Given the description of an element on the screen output the (x, y) to click on. 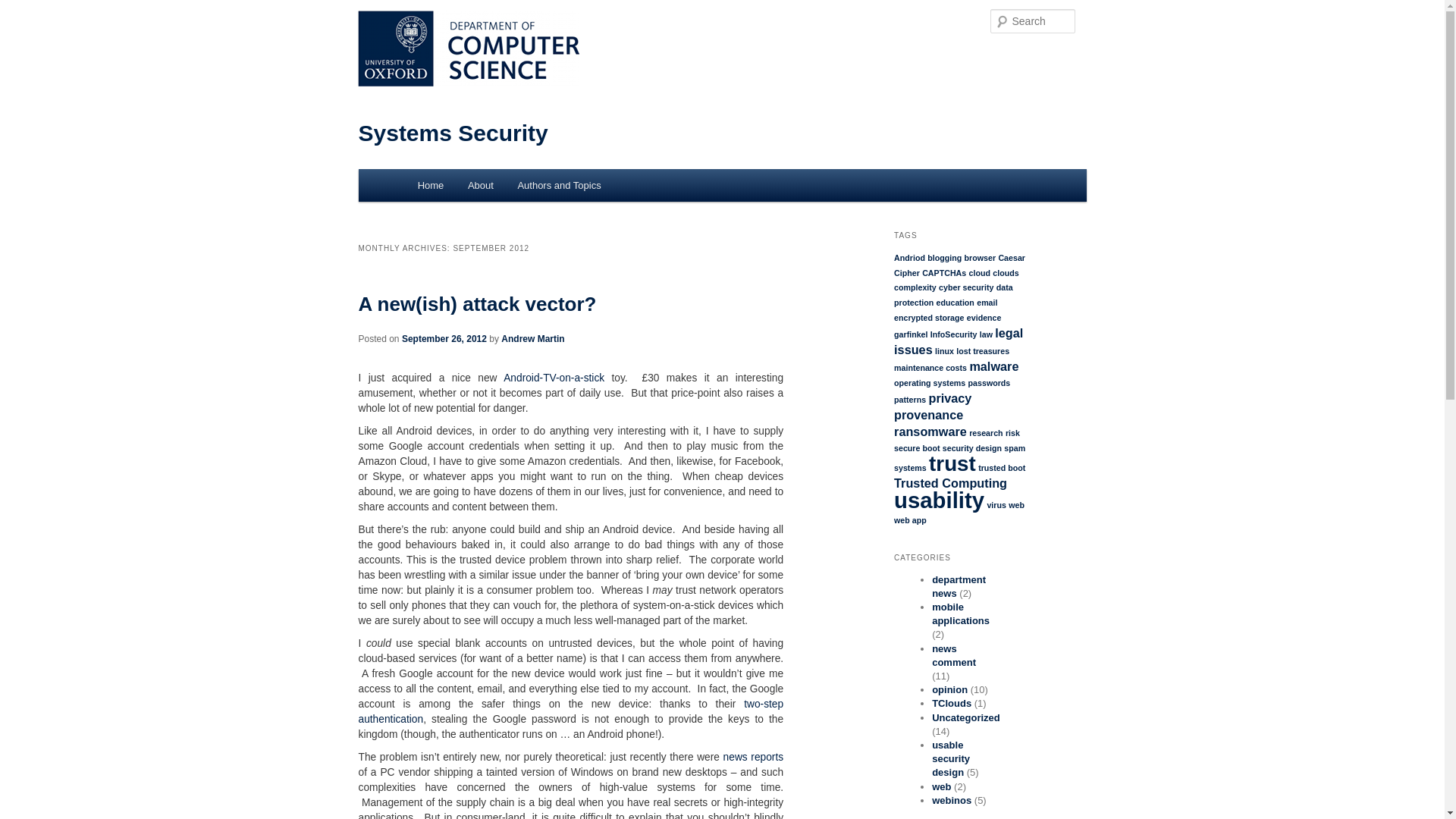
CAPTCHAs (943, 272)
two-step authentication (570, 711)
linux (943, 350)
Systems Security (452, 132)
11:01 am (443, 338)
Andrew Martin (532, 338)
Andriod (908, 257)
Home (430, 184)
cyber security (965, 286)
View all posts by Andrew Martin (532, 338)
